Given the description of an element on the screen output the (x, y) to click on. 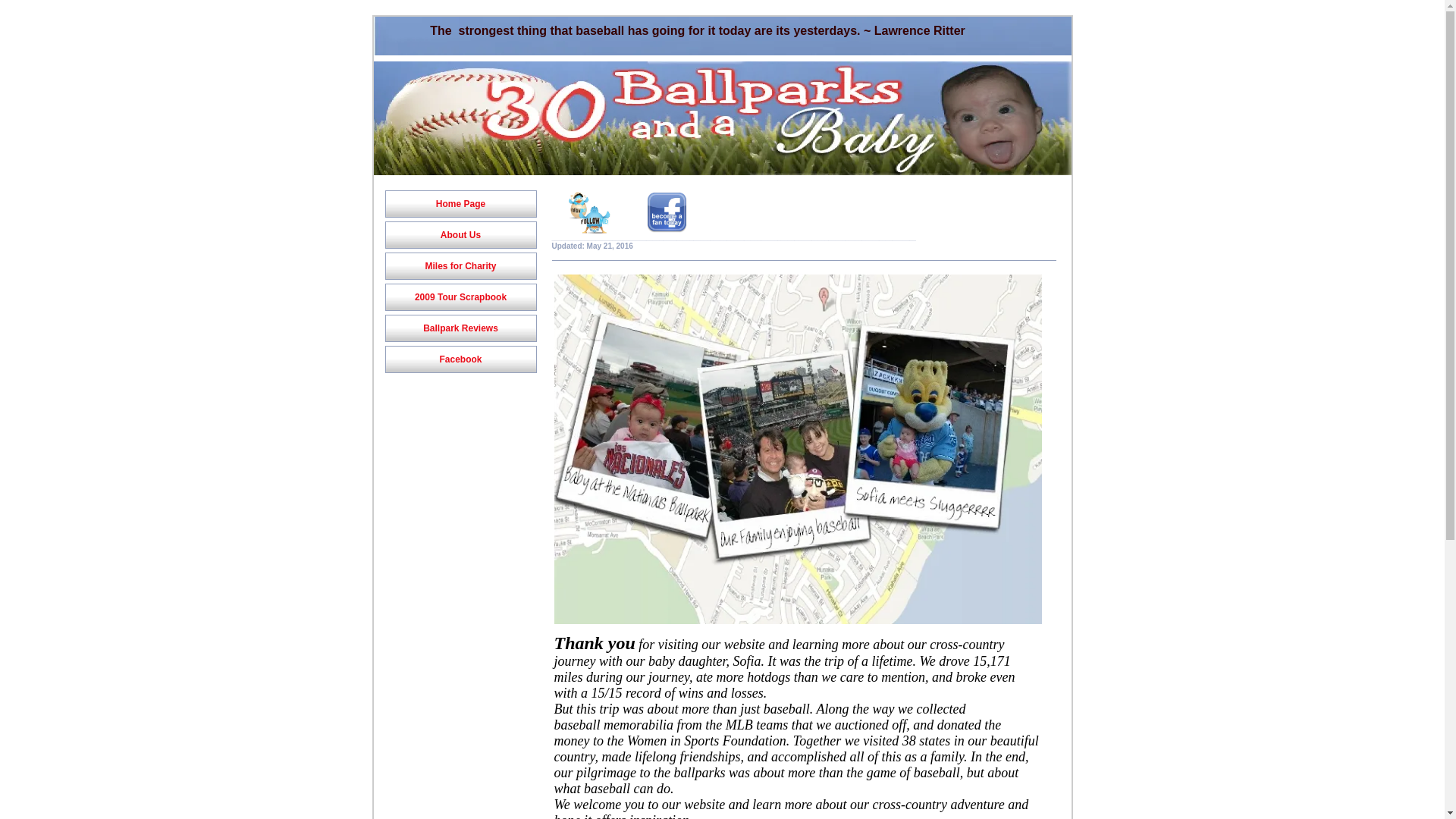
Miles for Charity Element type: text (460, 266)
Ballpark Reviews Element type: text (460, 328)
Women in Sports Foundation Element type: text (706, 740)
Home Page Element type: text (460, 203)
MLB Element type: text (740, 724)
Facebook Element type: text (460, 359)
2009 Tour Scrapbook Element type: text (460, 297)
About Us Element type: text (460, 234)
